Given the description of an element on the screen output the (x, y) to click on. 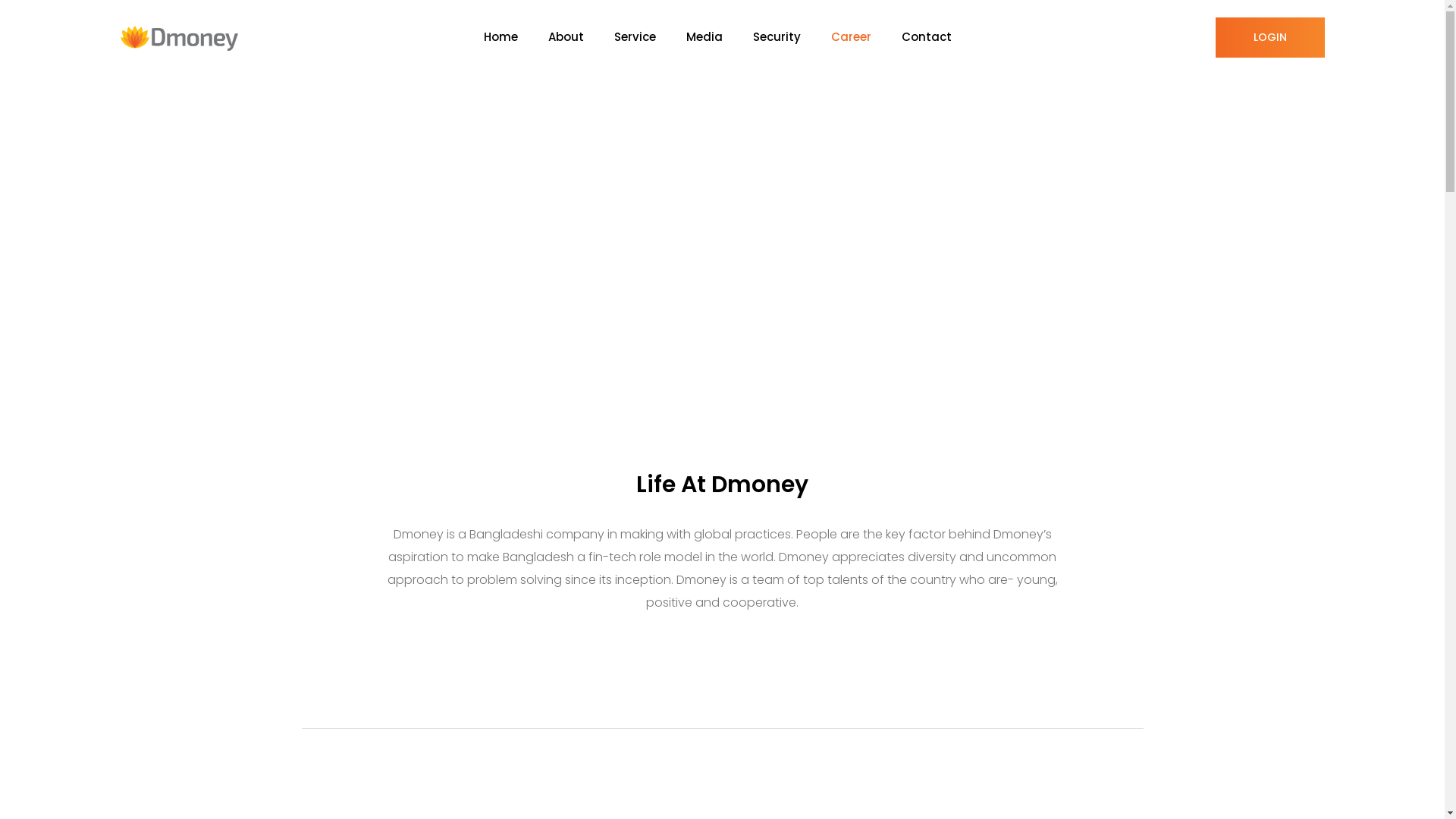
Home Element type: text (515, 37)
LOGIN Element type: text (1269, 37)
Service Element type: text (650, 37)
Media Element type: text (718, 37)
About Element type: text (580, 37)
Career Element type: text (866, 37)
Contact Element type: text (940, 37)
Security Element type: text (791, 37)
